Given the description of an element on the screen output the (x, y) to click on. 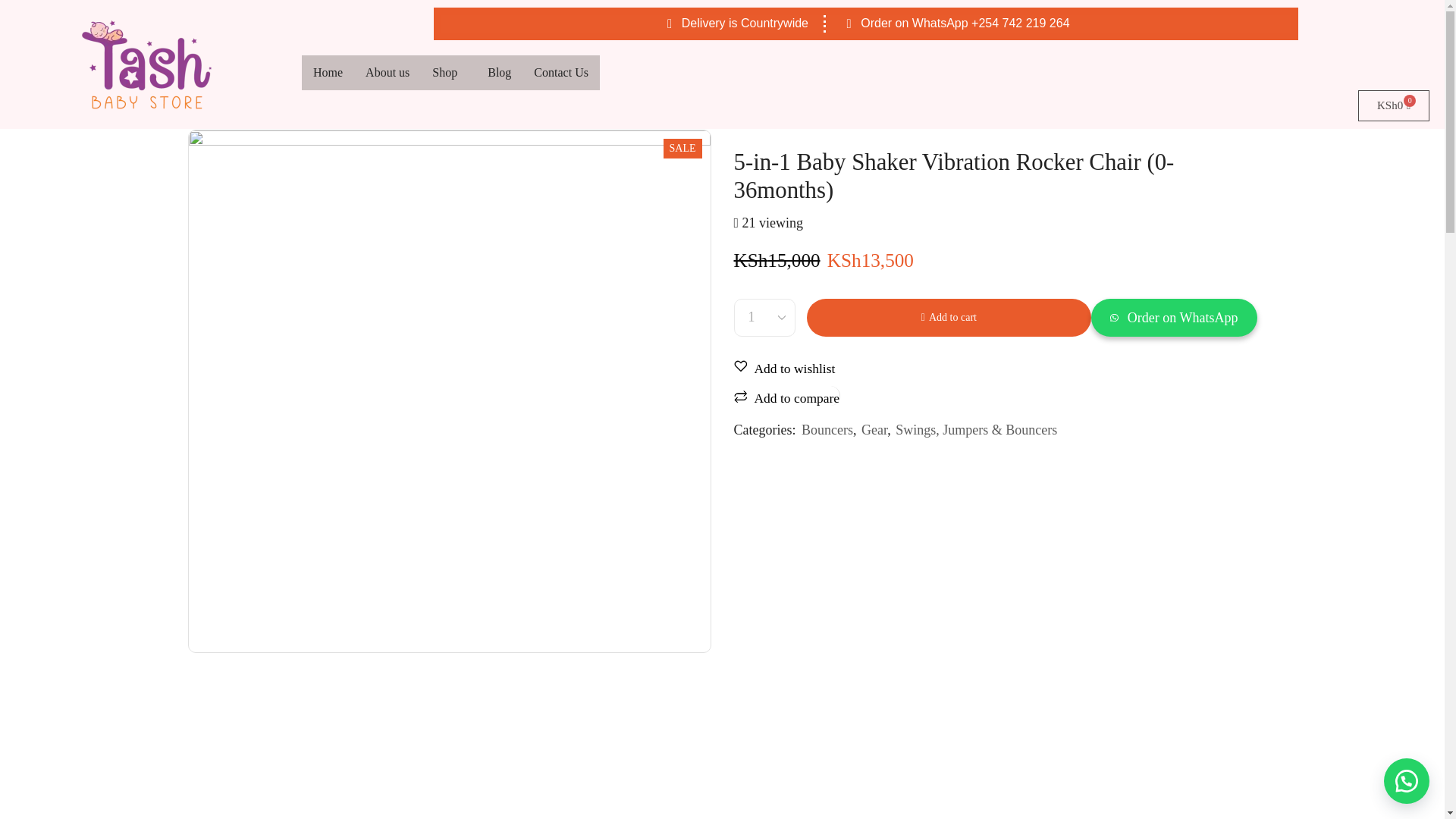
KSh0 (1393, 105)
About us (386, 72)
Shop (448, 72)
Contact Us (560, 72)
Blog (499, 72)
Home (327, 72)
